Given the description of an element on the screen output the (x, y) to click on. 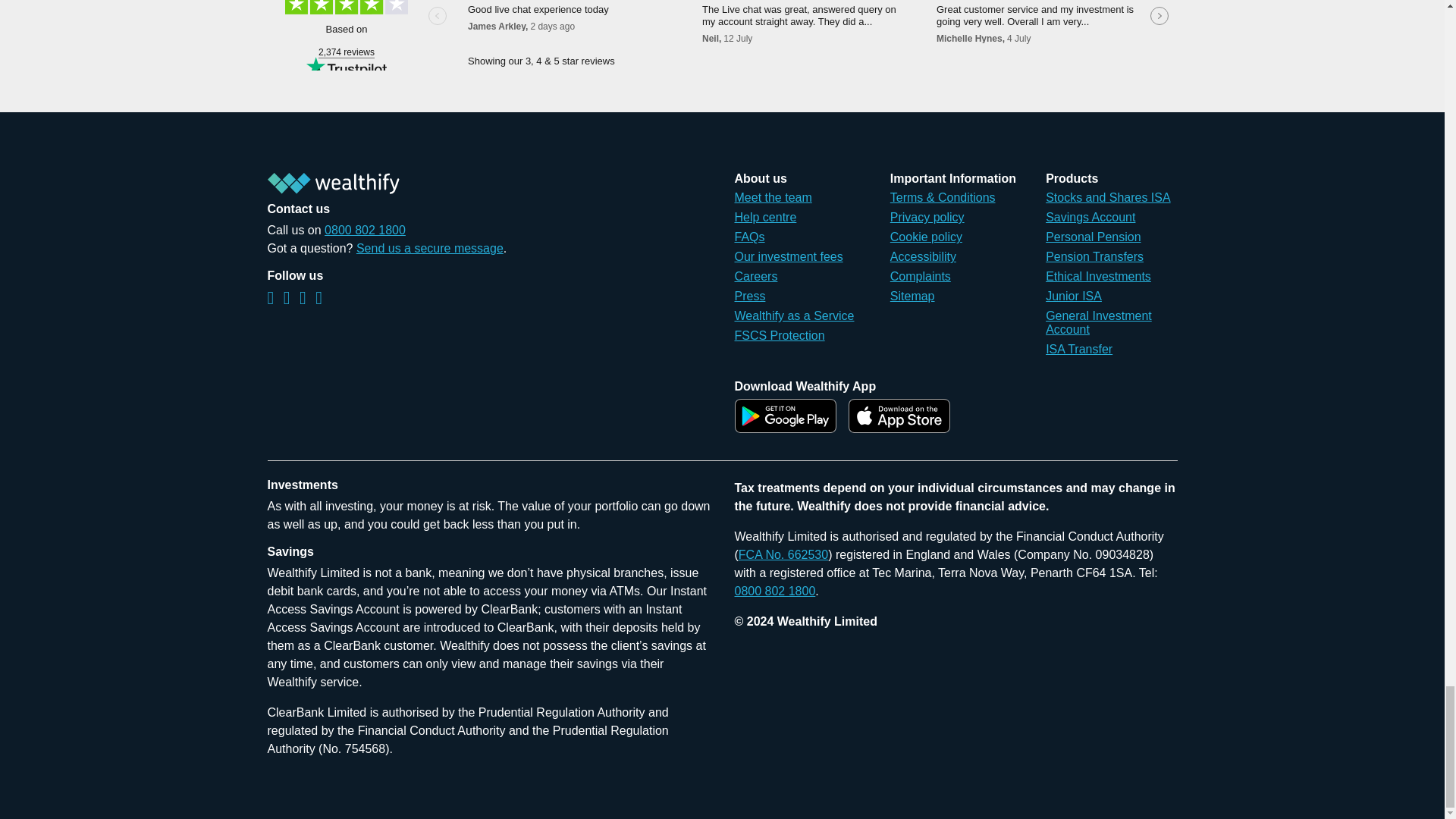
Customer reviews powered by Trustpilot (721, 35)
